Given the description of an element on the screen output the (x, y) to click on. 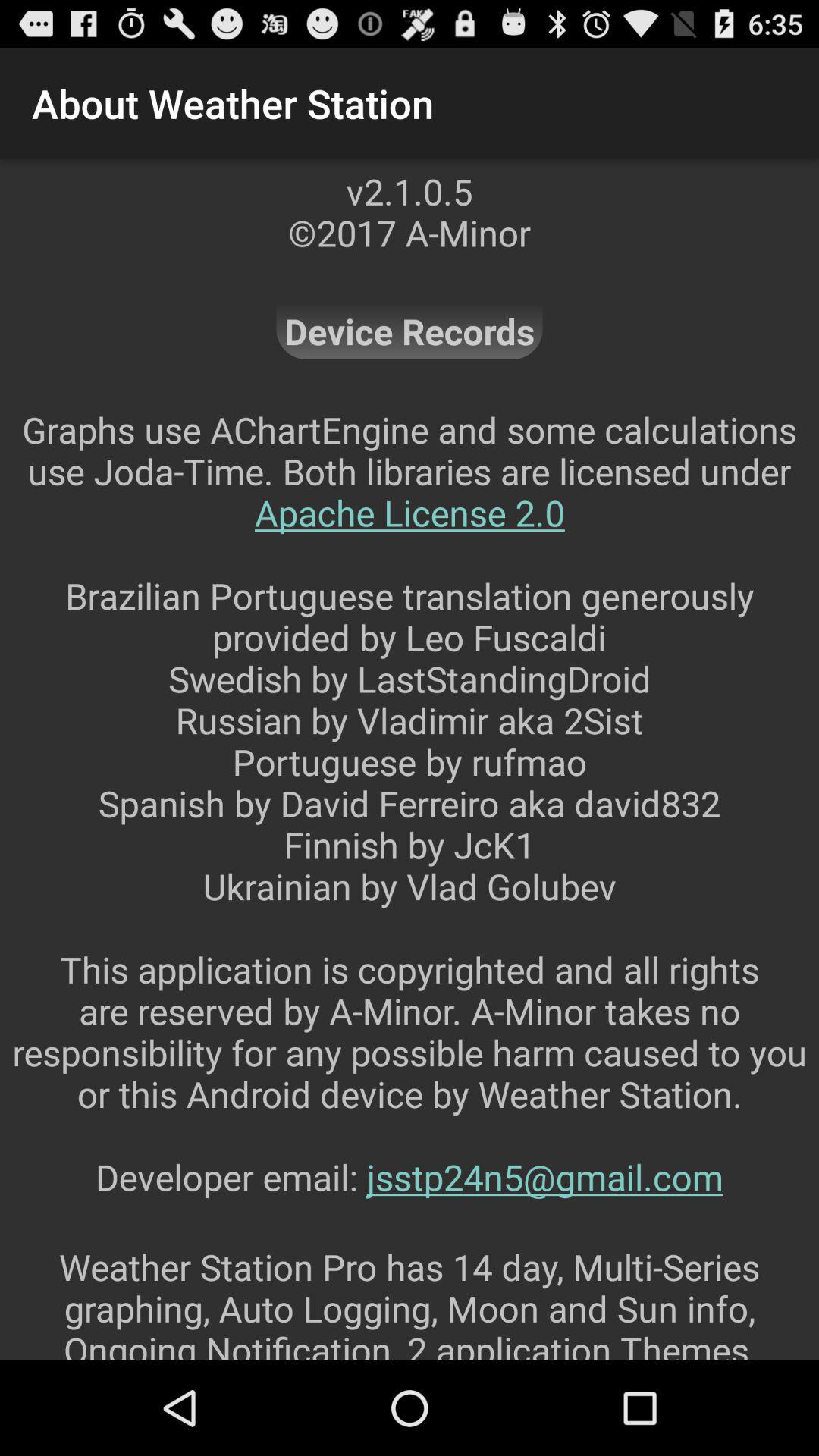
tap device records item (409, 331)
